Given the description of an element on the screen output the (x, y) to click on. 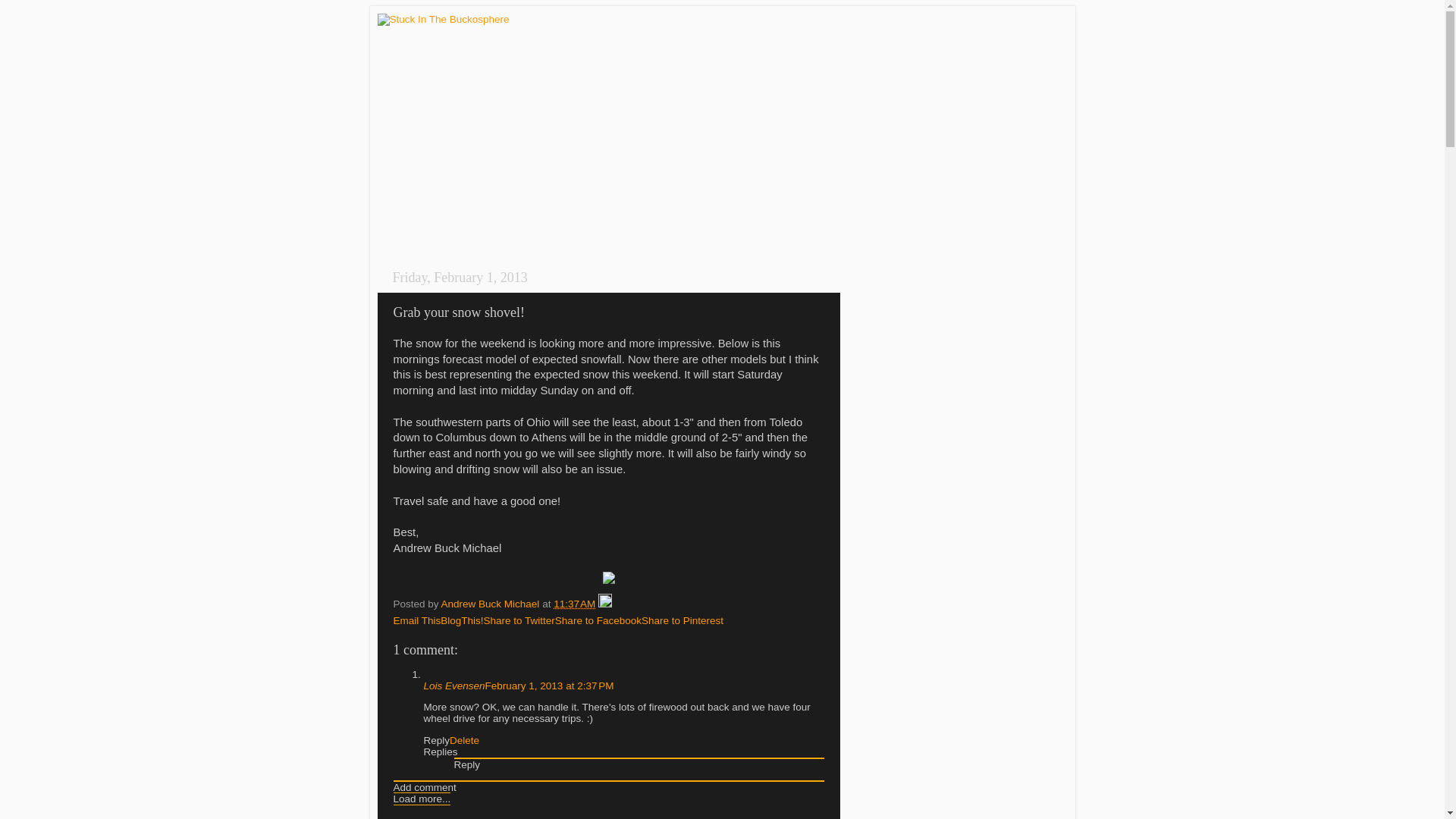
Lois Evensen (453, 685)
Email This (417, 620)
Email This (417, 620)
Share to Twitter (518, 620)
Share to Twitter (518, 620)
permanent link (574, 603)
BlogThis! (462, 620)
Reply (436, 740)
Delete (464, 740)
Edit Post (604, 603)
Reply (466, 764)
Andrew Buck Michael (492, 603)
Share to Facebook (598, 620)
author profile (492, 603)
